Given the description of an element on the screen output the (x, y) to click on. 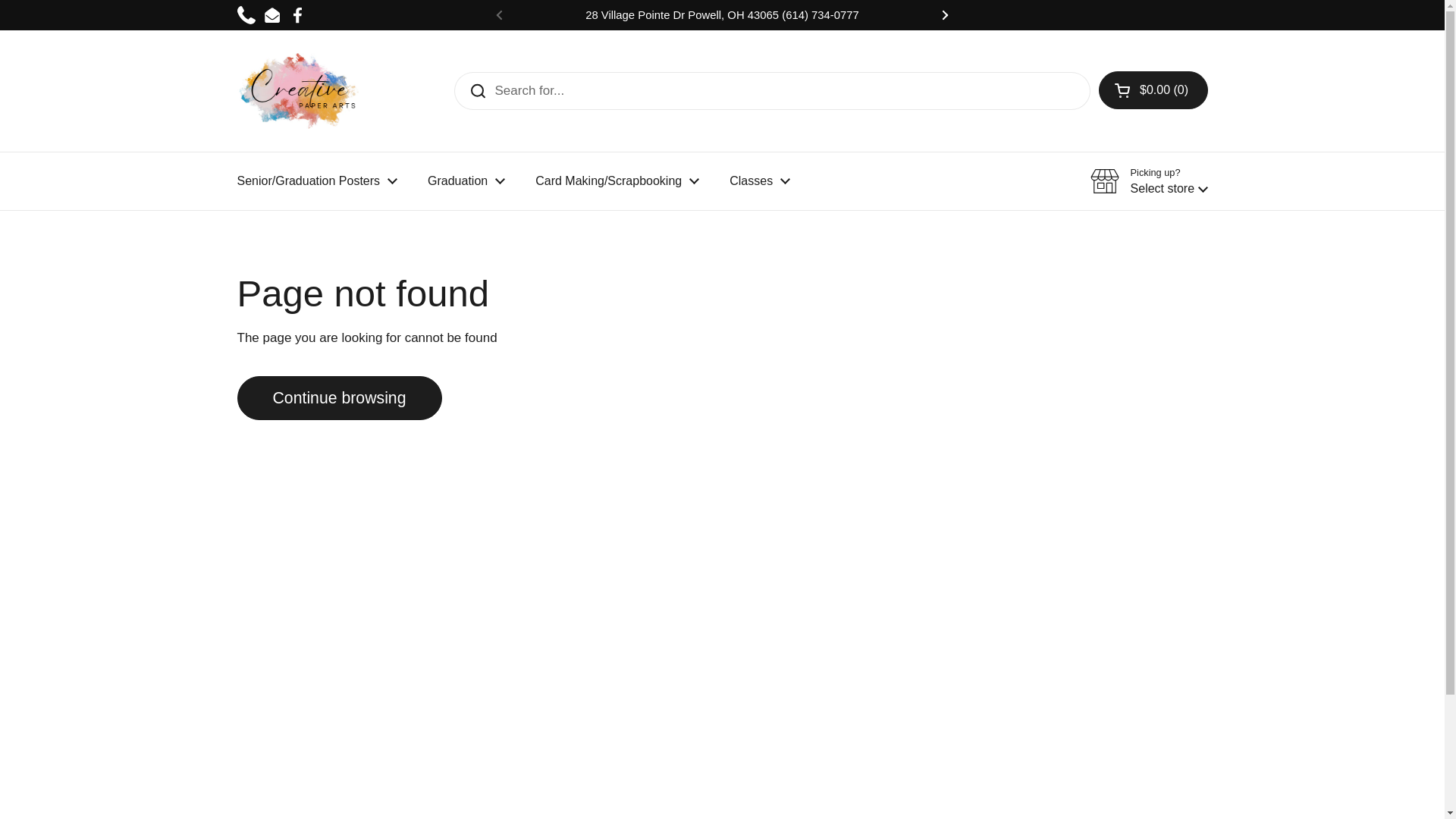
Facebook (296, 14)
Phone (244, 14)
Open cart (1153, 89)
Creative Paper Arts (298, 90)
Email (271, 14)
